Given the description of an element on the screen output the (x, y) to click on. 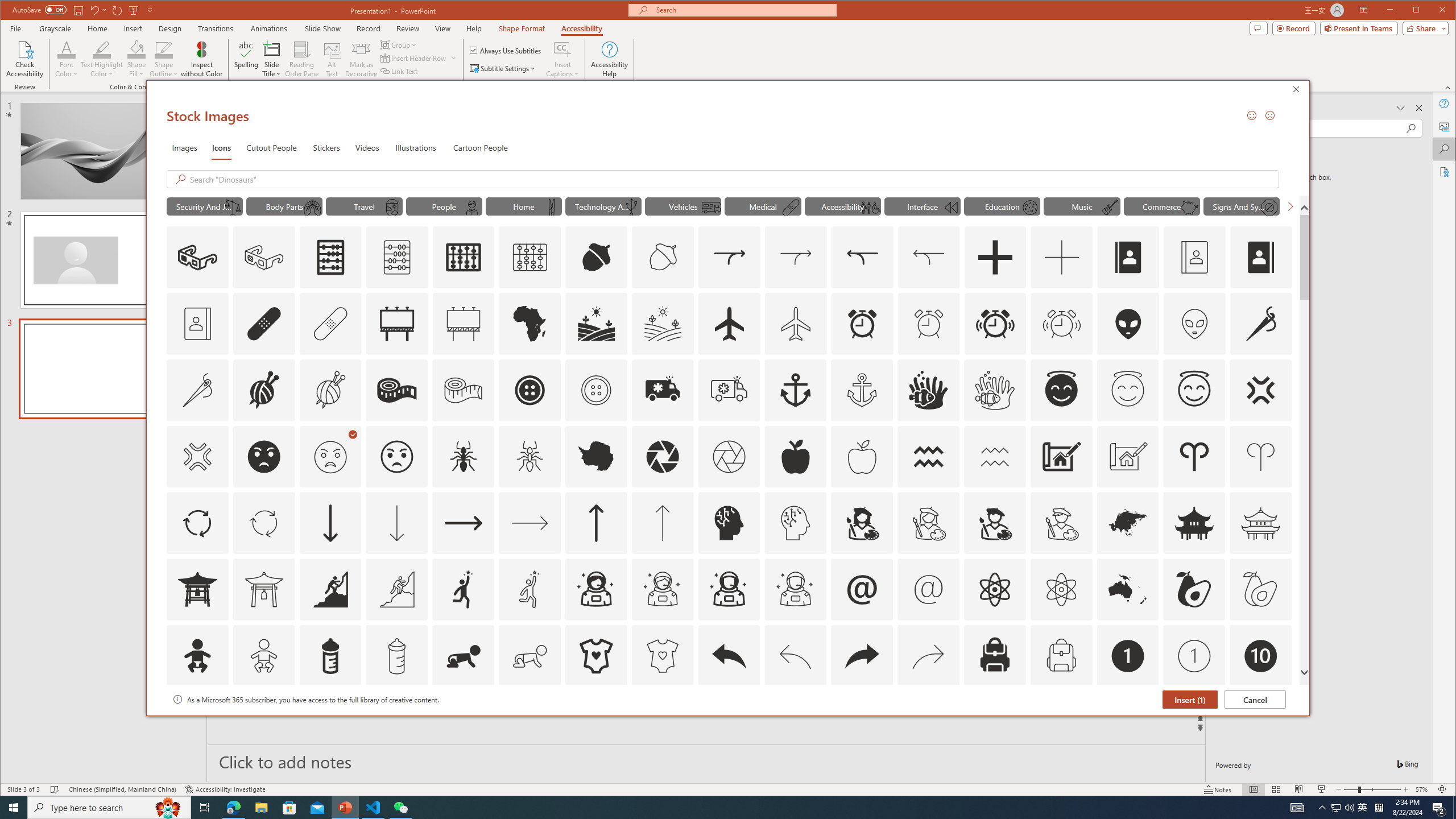
AutomationID: Icons_AsianTemple_M (1260, 522)
AutomationID: Icons_ArrowRight (462, 522)
AutomationID: Icons_Apple (795, 456)
AutomationID: Icons_Add (995, 256)
Cartoon People (479, 147)
AutomationID: Icons_AlienFace_M (1194, 323)
AutomationID: Icons_BabyCrawling (462, 655)
AutomationID: Icons_Plug_M (631, 207)
AutomationID: Icons_AsianTemple1 (197, 589)
